Given the description of an element on the screen output the (x, y) to click on. 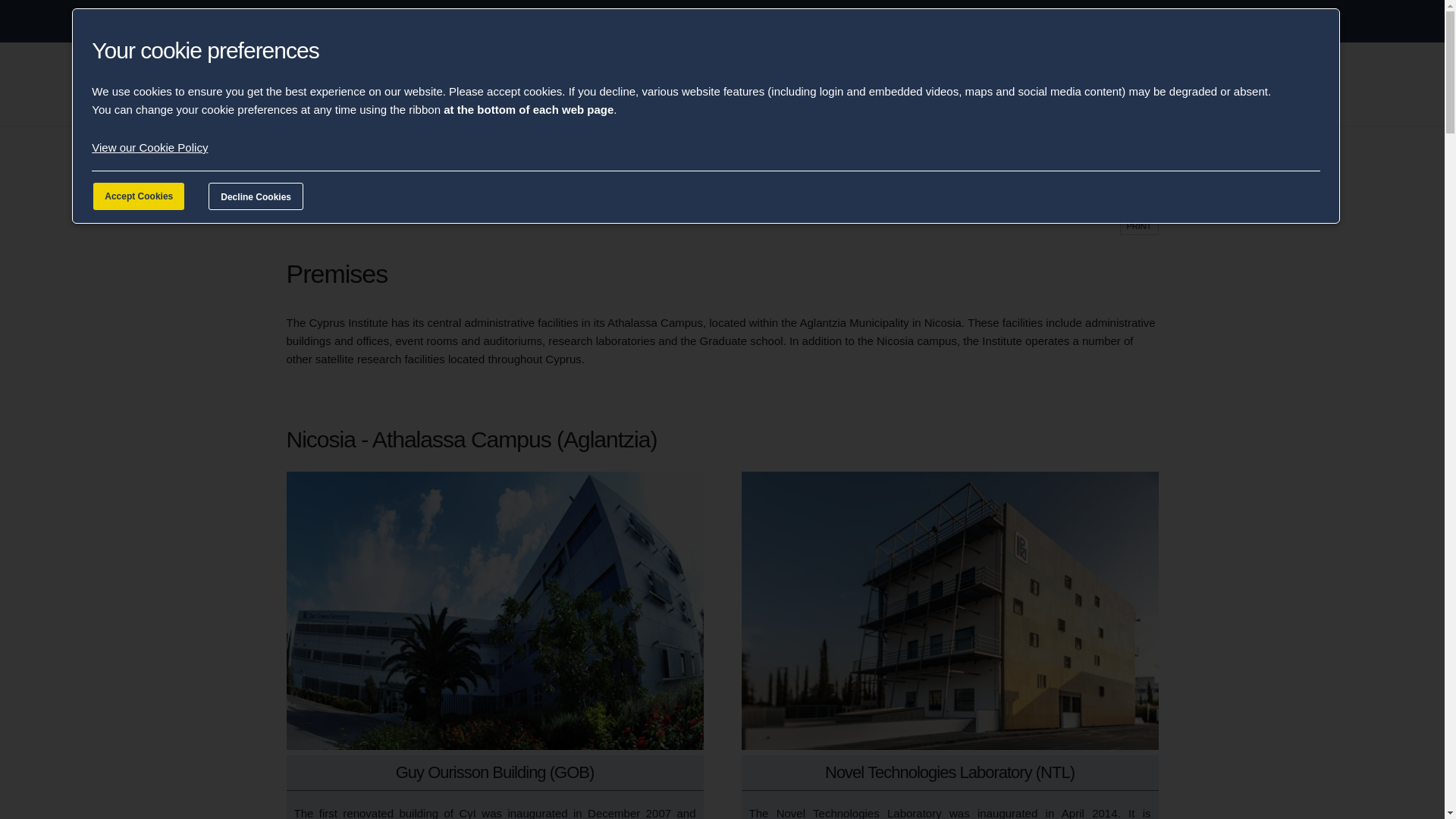
CyI in the News (678, 79)
Search ... (1076, 79)
HR Excellence (764, 79)
Contact the Institute (932, 79)
The Cyprus Institute (392, 78)
ABOUT CyI (333, 21)
Search ... (1076, 79)
Our People (841, 79)
